Given the description of an element on the screen output the (x, y) to click on. 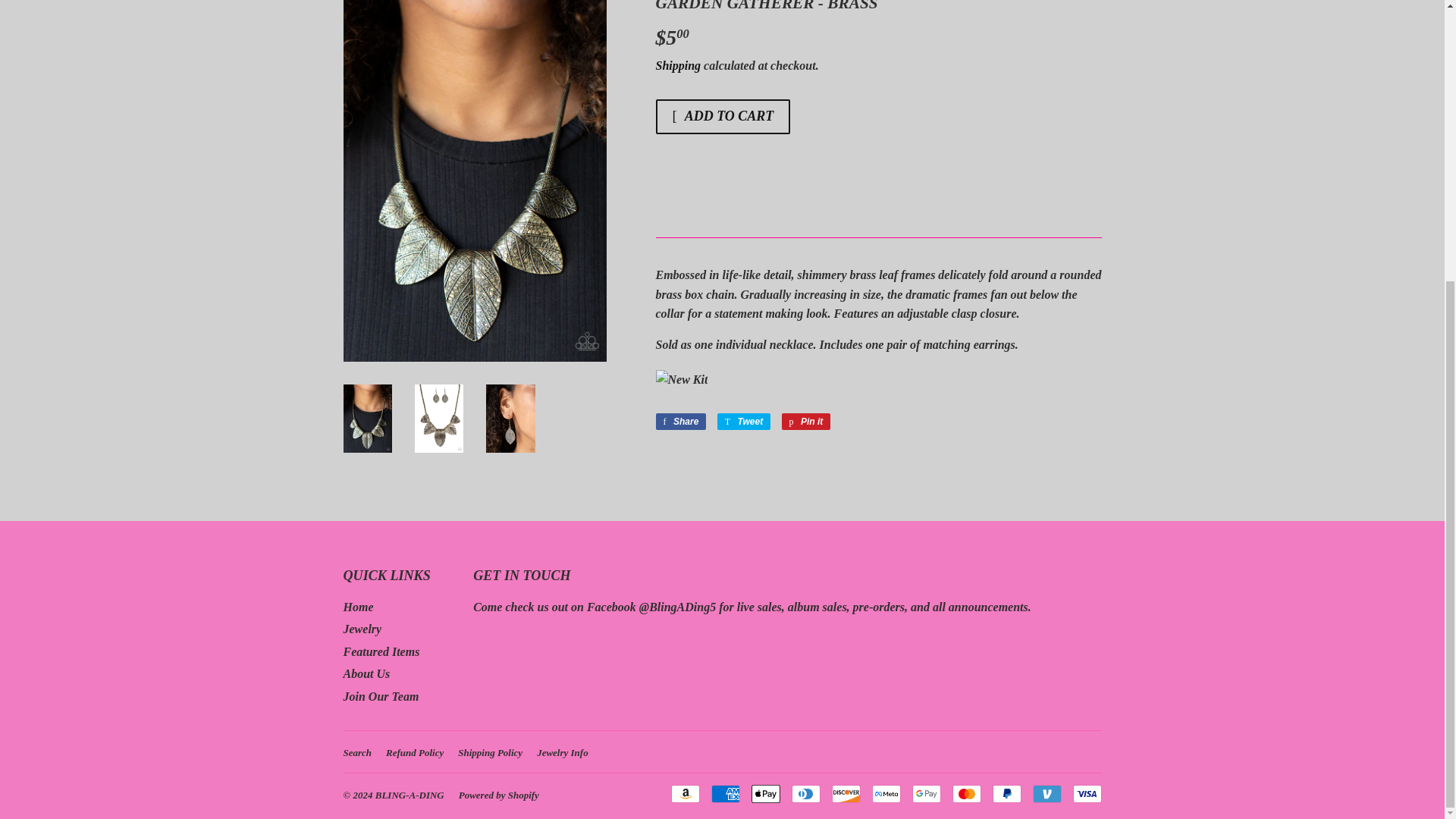
Meta Pay (886, 793)
Amazon (683, 793)
Discover (845, 793)
Venmo (1046, 793)
PayPal (1005, 793)
American Express (725, 793)
Pin on Pinterest (806, 421)
Mastercard (966, 793)
Tweet on Twitter (743, 421)
Visa (1085, 793)
